Given the description of an element on the screen output the (x, y) to click on. 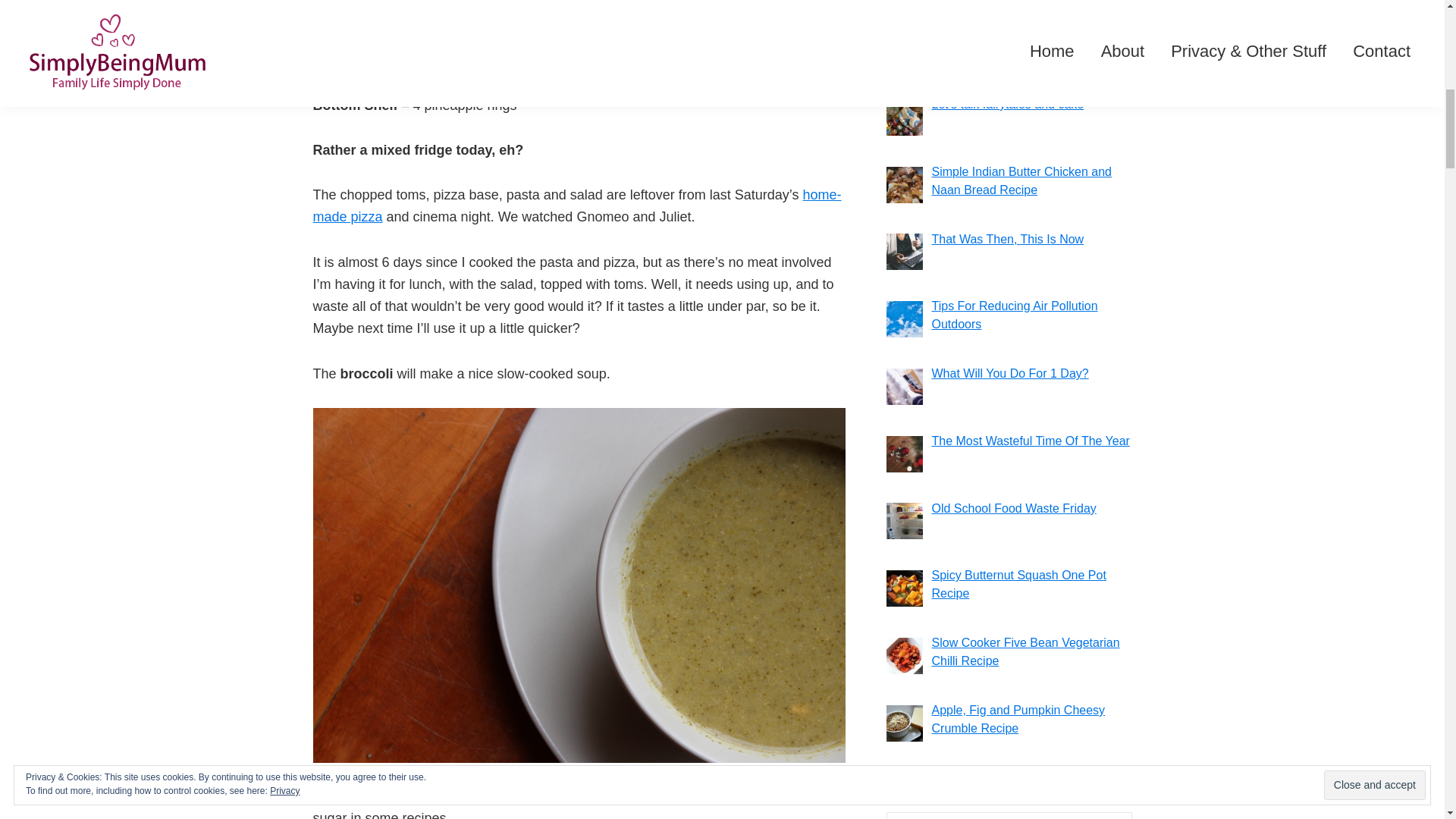
home-made pizza (577, 205)
